Given the description of an element on the screen output the (x, y) to click on. 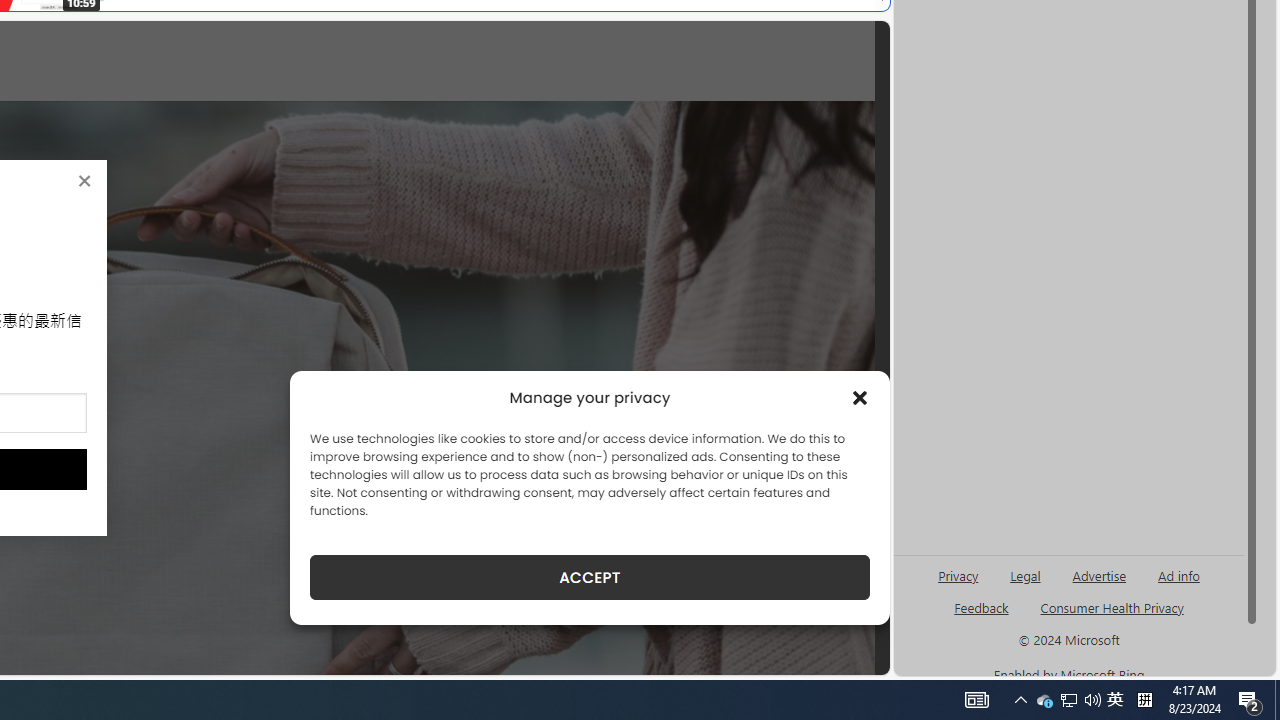
AutomationID: sb_feedback (980, 607)
Class: cmplz-close (859, 398)
AutomationID: genId96 (981, 615)
ACCEPT (589, 577)
